Given the description of an element on the screen output the (x, y) to click on. 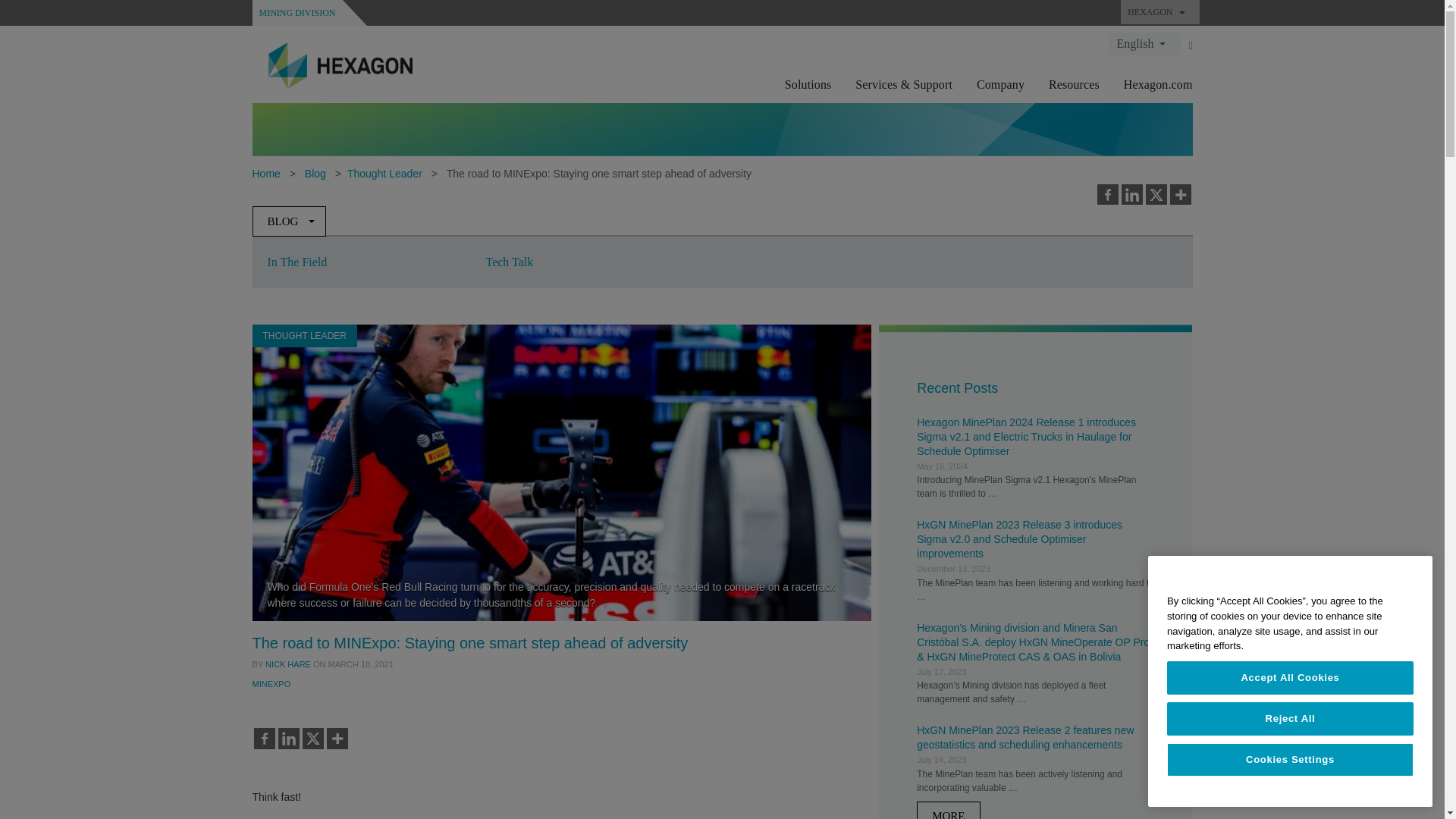
Posts by Nick Hare (287, 664)
Facebook (1107, 194)
X (312, 738)
Linkedin (288, 738)
Linkedin (1131, 194)
Facebook (264, 738)
X (1155, 194)
HEXAGON (1159, 12)
More (1180, 194)
More (336, 738)
English (1144, 42)
